Given the description of an element on the screen output the (x, y) to click on. 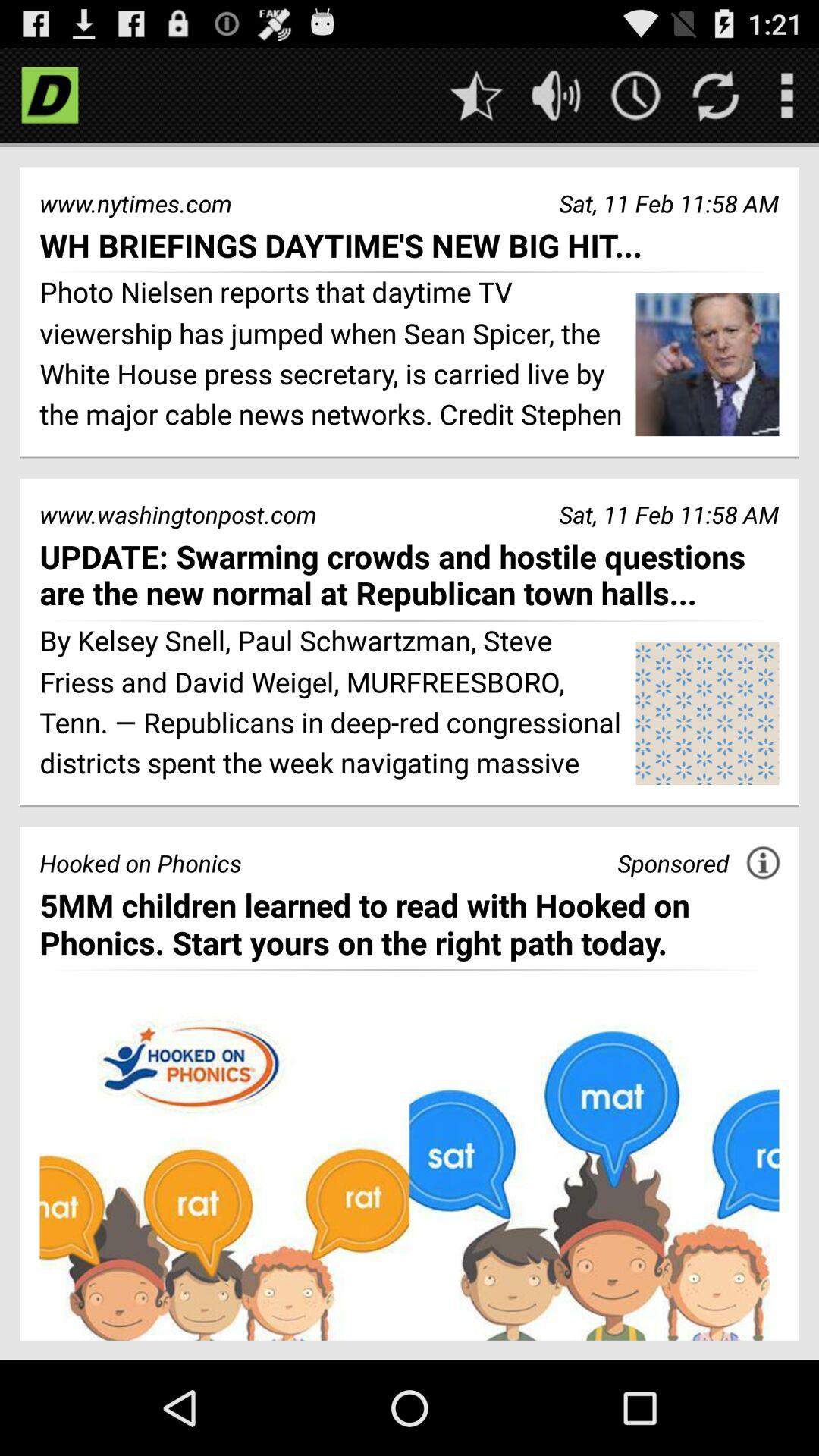
tap the icon to the right of sponsored (763, 862)
